Given the description of an element on the screen output the (x, y) to click on. 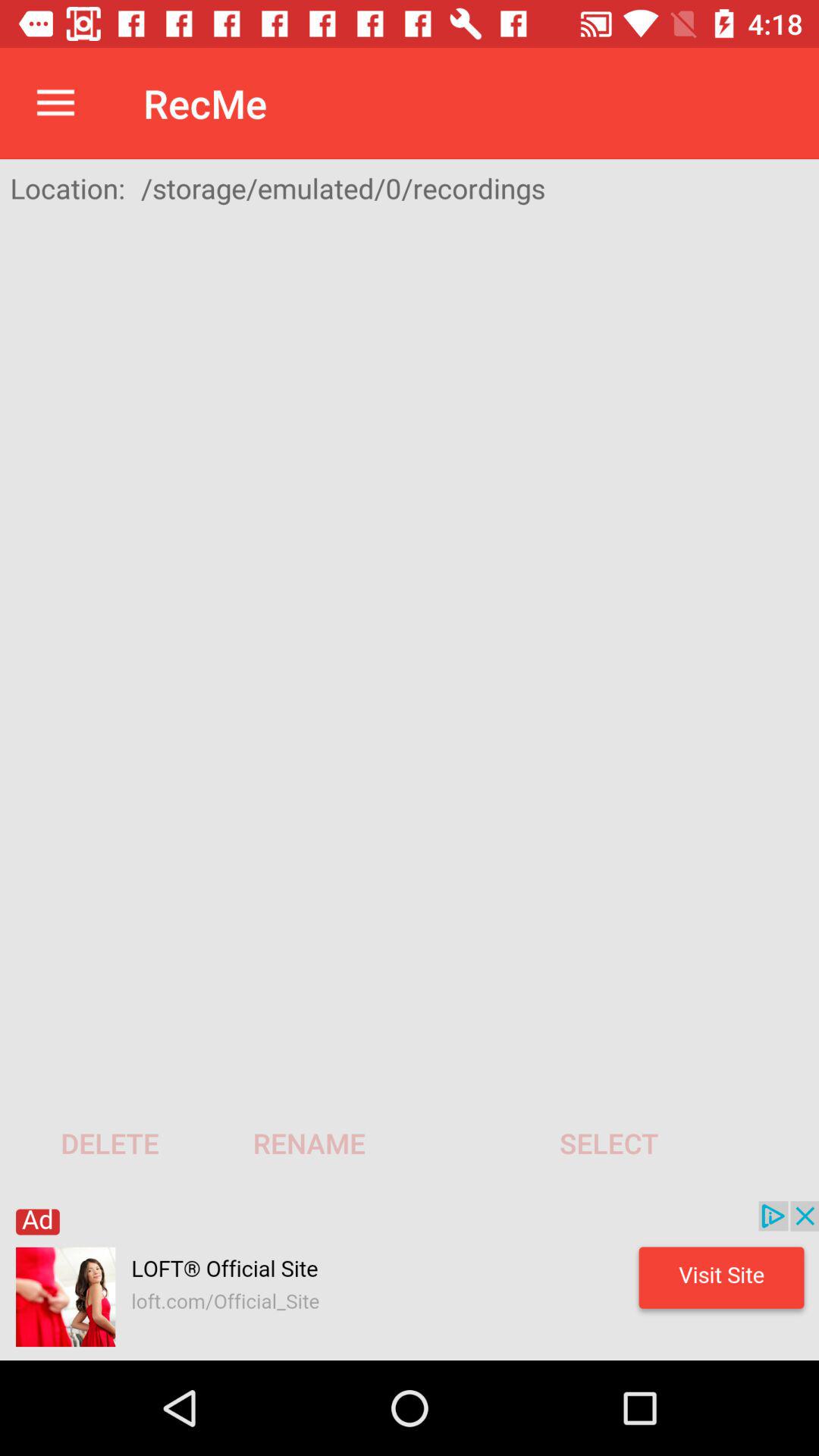
shows the advertisement tab (409, 1280)
